Given the description of an element on the screen output the (x, y) to click on. 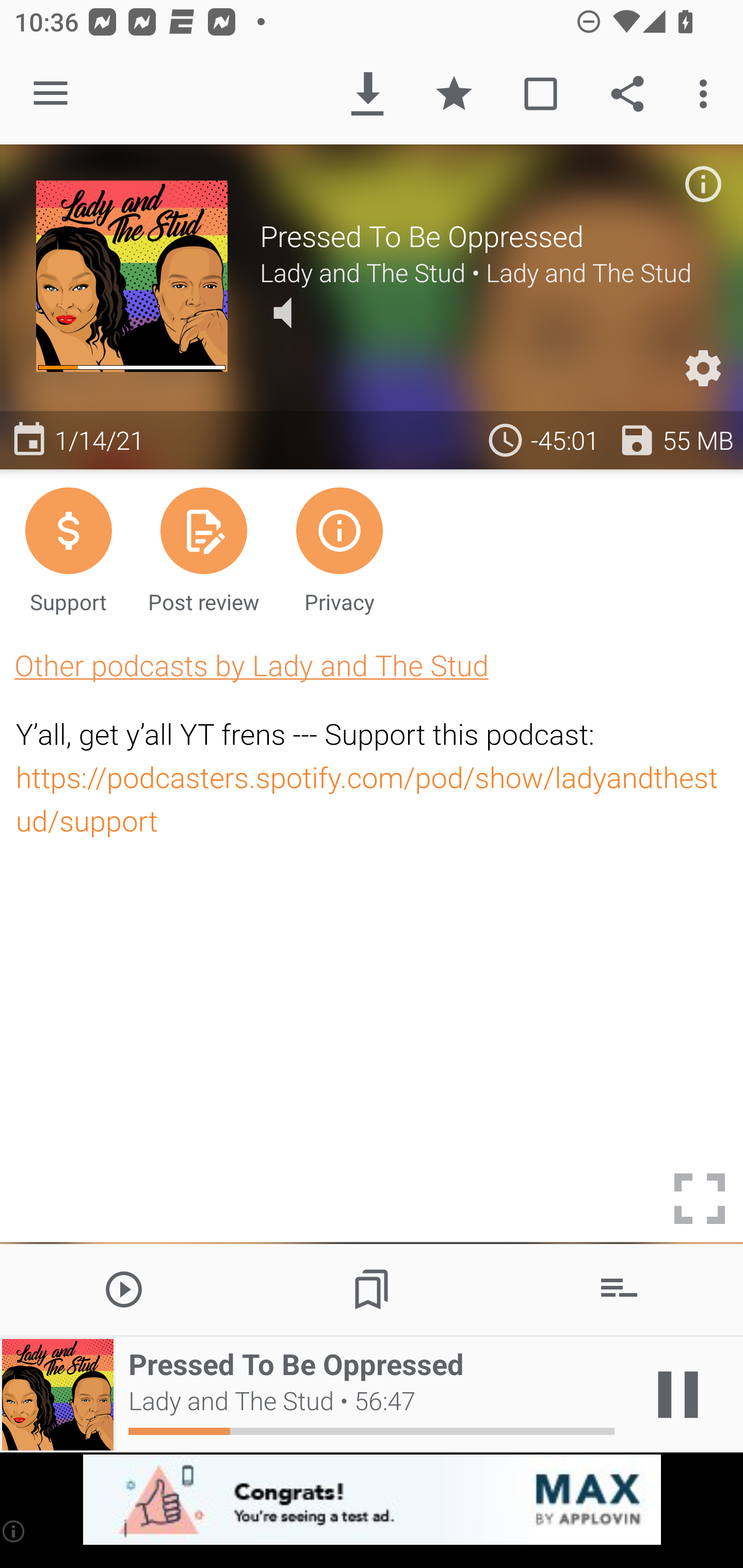
Open navigation sidebar (50, 93)
Download (366, 93)
UnFavorite (453, 93)
Mark played / unplayed (540, 93)
Share (626, 93)
More options (706, 93)
Podcast description (703, 184)
Pressed To Be Oppressed (483, 235)
Custom Settings (703, 368)
Support (68, 549)
Post review (203, 549)
Privacy (339, 549)
Other podcasts by Lady and The Stud (251, 665)
Toggle full screen mode (699, 1198)
Play (123, 1288)
Chapters / Bookmarks (371, 1288)
Remove from Playlist (619, 1288)
Play / Pause (677, 1394)
app-monetization (371, 1500)
(i) (14, 1531)
